Given the description of an element on the screen output the (x, y) to click on. 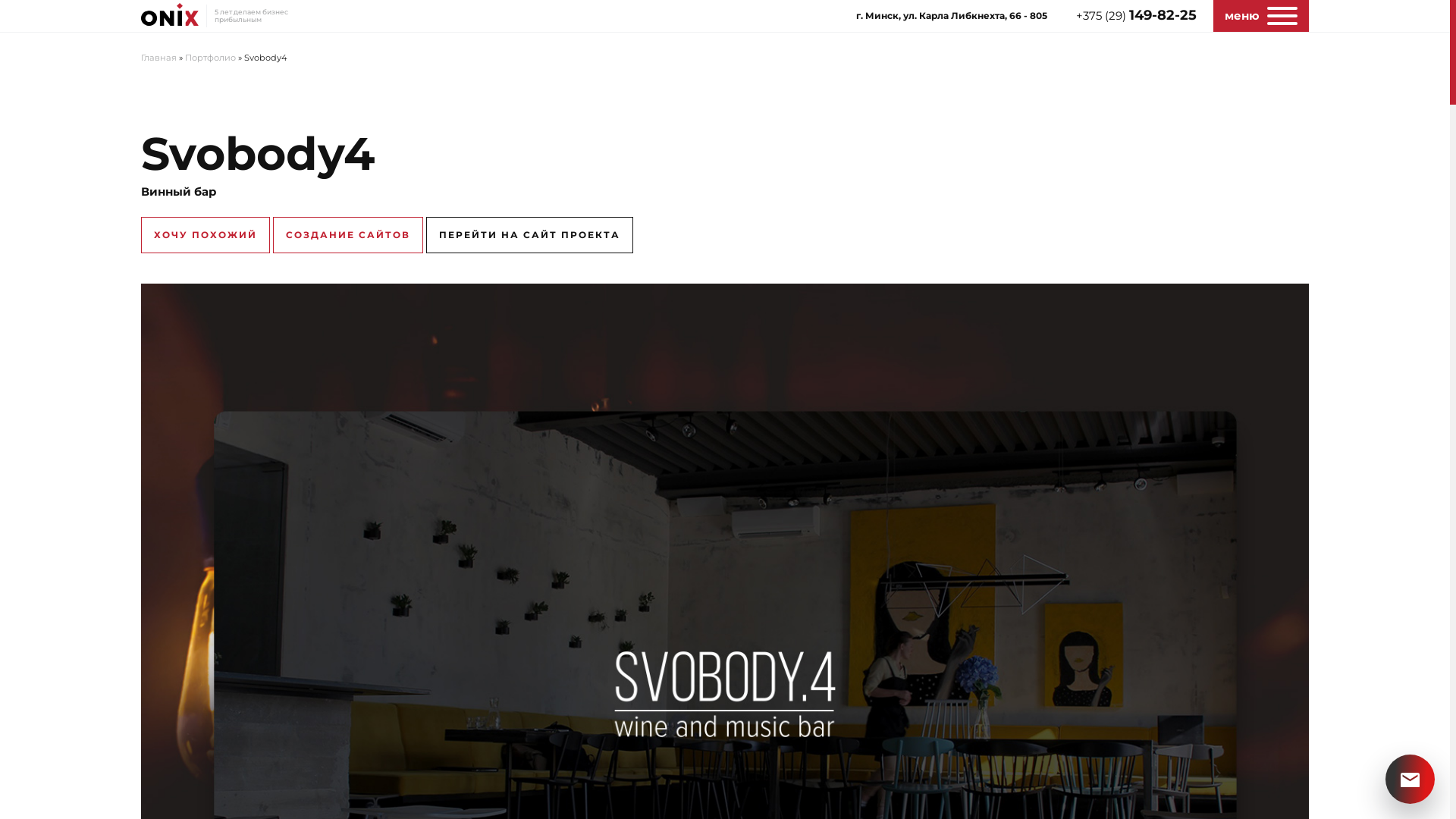
+375 (29) 149-82-25 Element type: text (1130, 17)
